Given the description of an element on the screen output the (x, y) to click on. 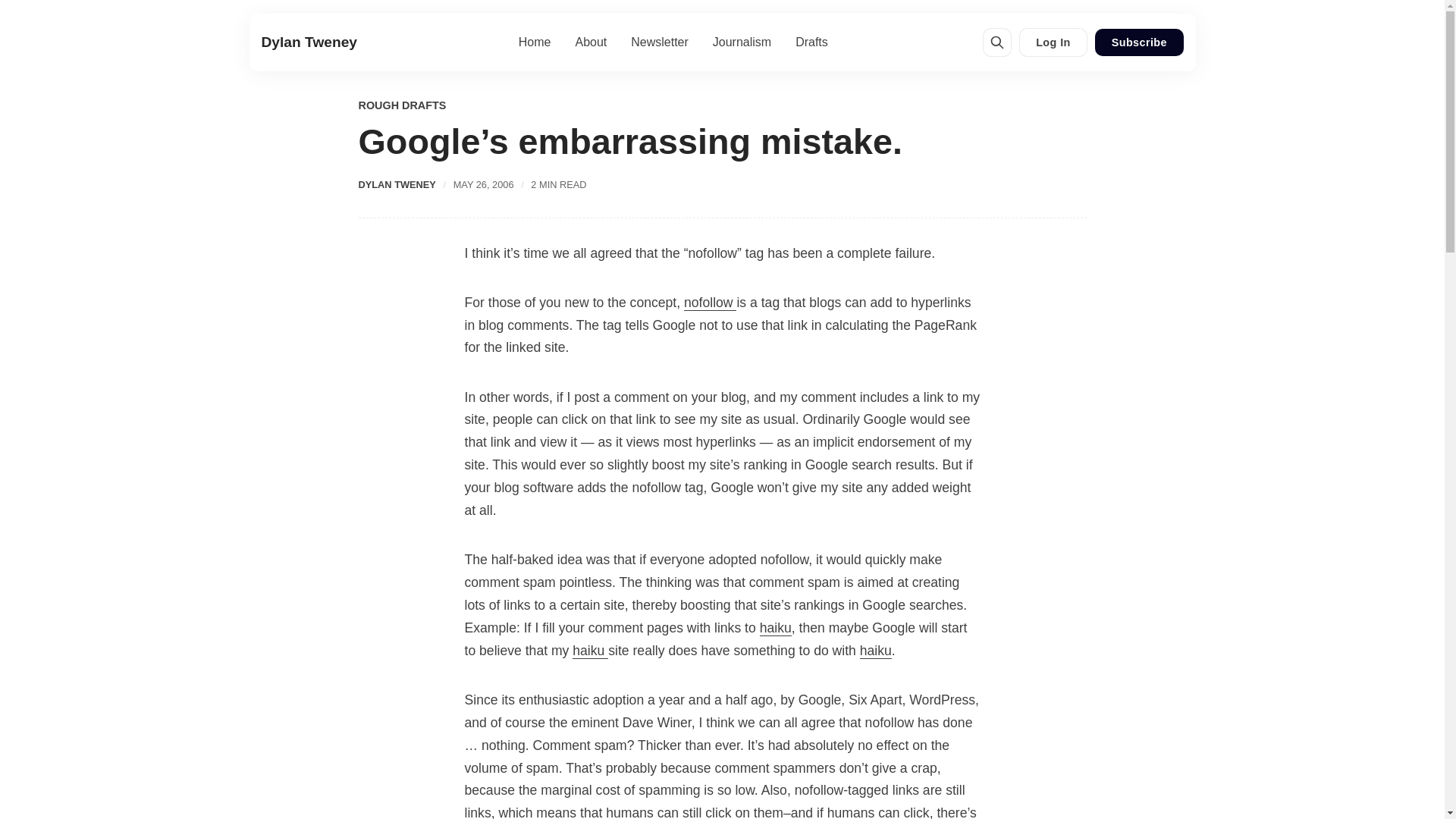
ROUGH DRAFTS (401, 105)
Drafts (812, 42)
haiku (776, 627)
Journalism (742, 42)
Newsletter (659, 42)
Search (997, 42)
About (591, 42)
DYLAN TWENEY (396, 184)
Subscribe (1138, 42)
Log In (1053, 42)
Home (534, 42)
haiku (590, 650)
nofollow (710, 302)
haiku (875, 650)
